Given the description of an element on the screen output the (x, y) to click on. 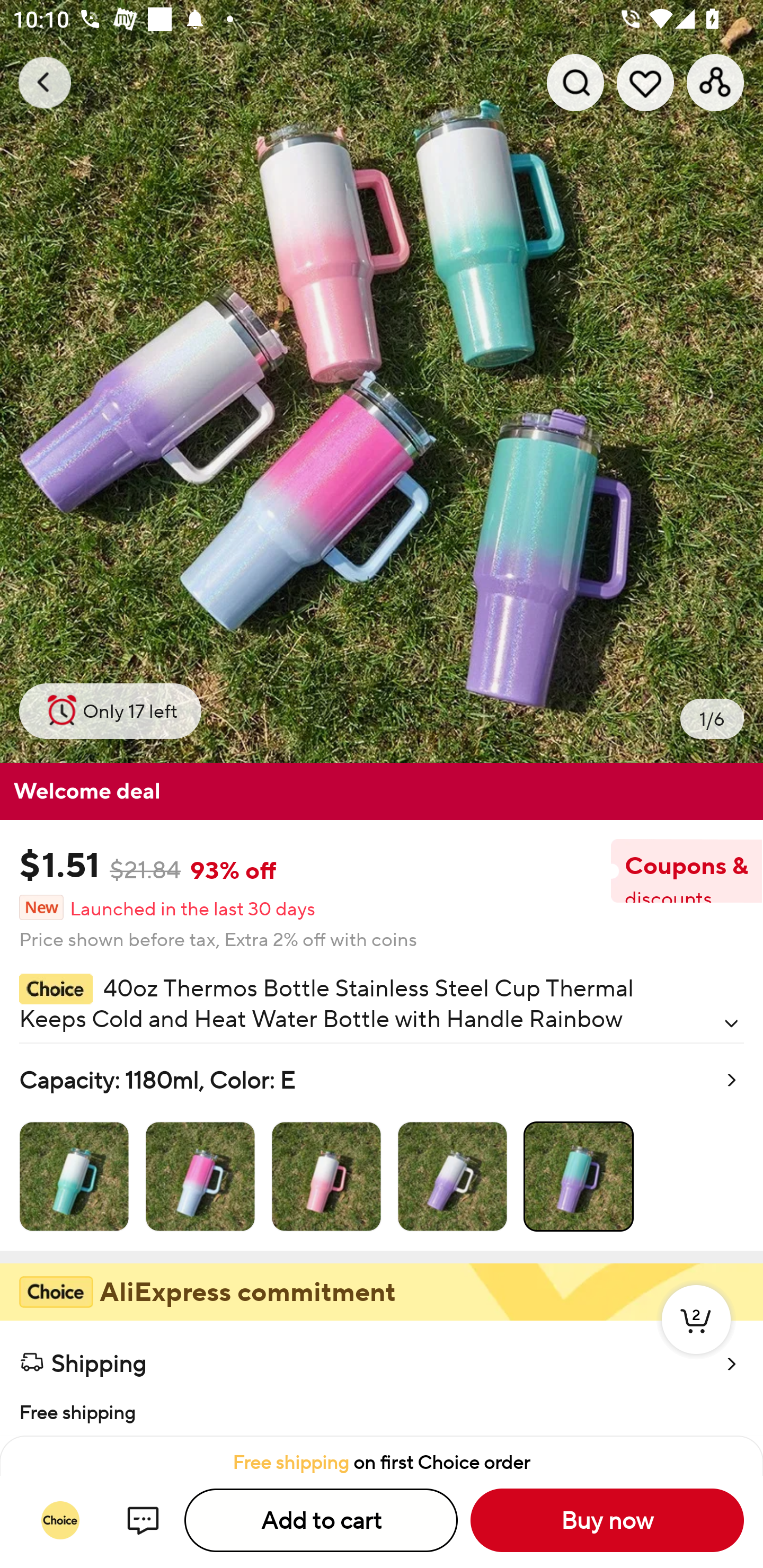
Navigate up (44, 82)
 (730, 1023)
Capacity: 1180ml, Color: E  (381, 1147)
2 (695, 1338)
Shipping  Free shipping  delivery by Mar 19 - 22  (381, 1378)
Free shipping  delivery by Mar 19 - 22  (381, 1410)
Add to cart (320, 1520)
Buy now (606, 1520)
